Given the description of an element on the screen output the (x, y) to click on. 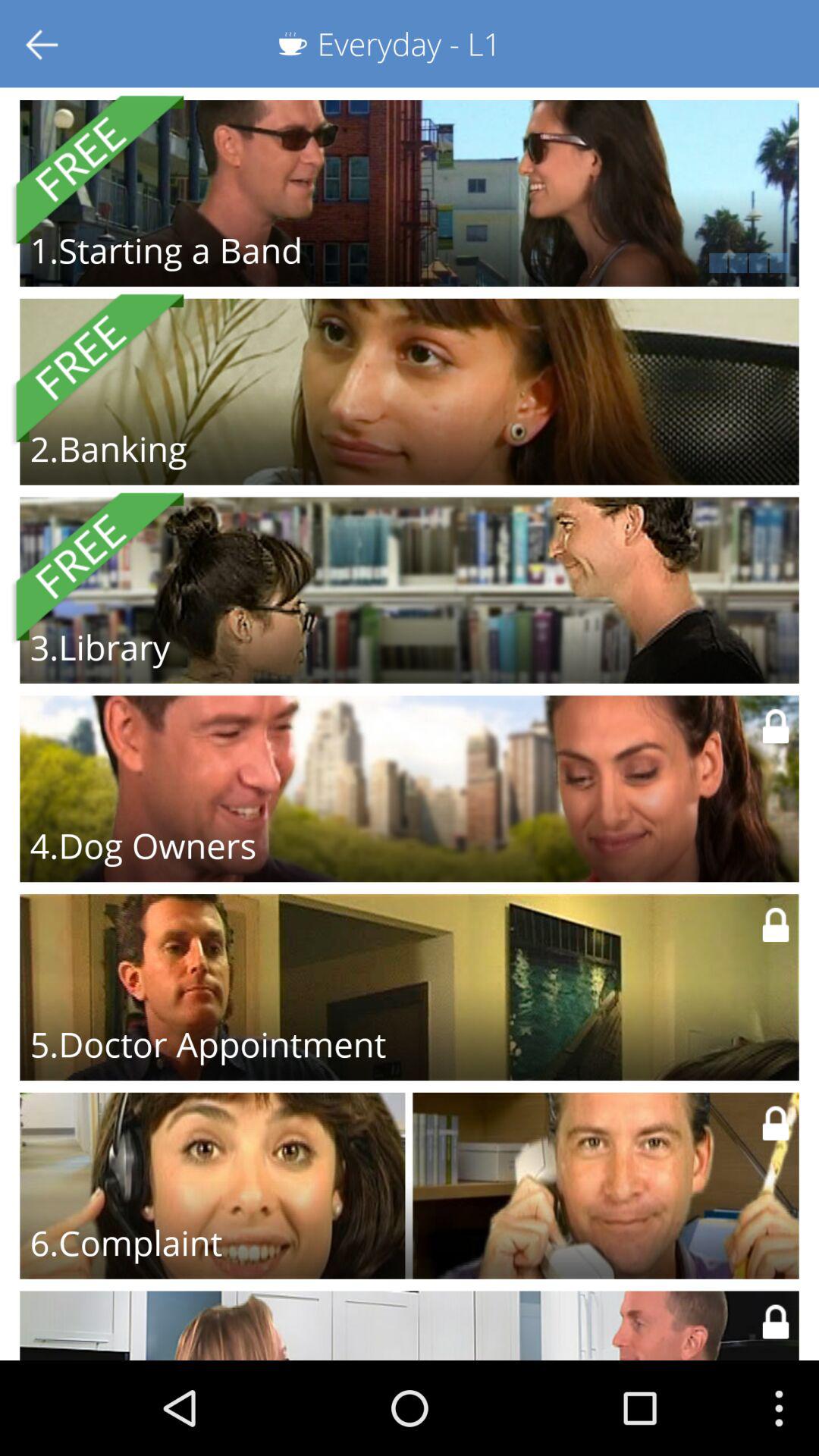
jump to the 6.complaint item (126, 1242)
